Given the description of an element on the screen output the (x, y) to click on. 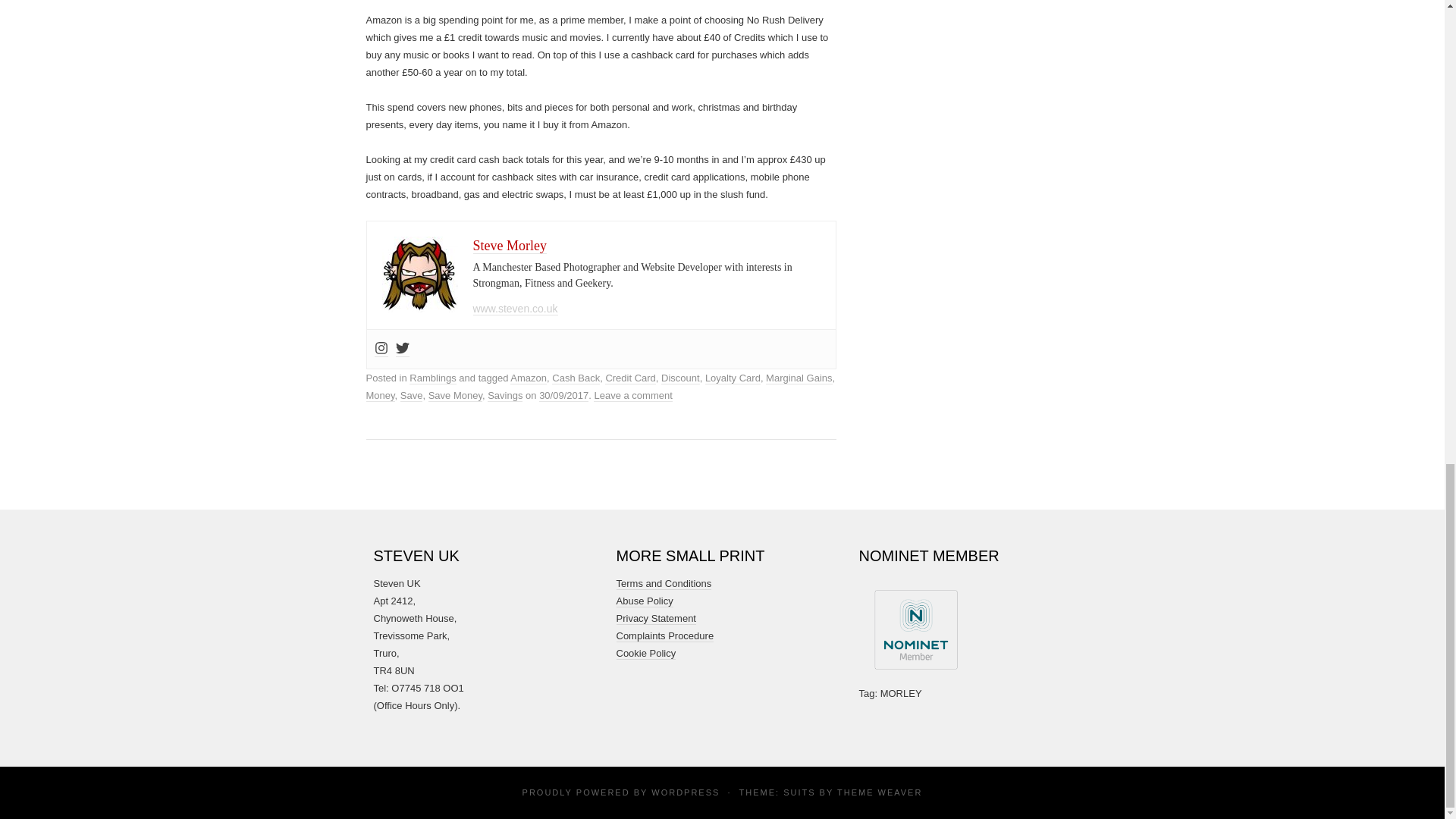
Save Money (454, 395)
Leave a comment (632, 395)
Ramblings (432, 378)
Cash Back (575, 378)
www.steven.co.uk (515, 308)
Money (379, 395)
Marginal Gains (798, 378)
Loyalty Card (732, 378)
Amazon (529, 378)
Semantic Personal Publishing Platform (684, 791)
Save (411, 395)
14:15 (563, 395)
Theme Developer (879, 791)
Discount (680, 378)
Credit Card (630, 378)
